Given the description of an element on the screen output the (x, y) to click on. 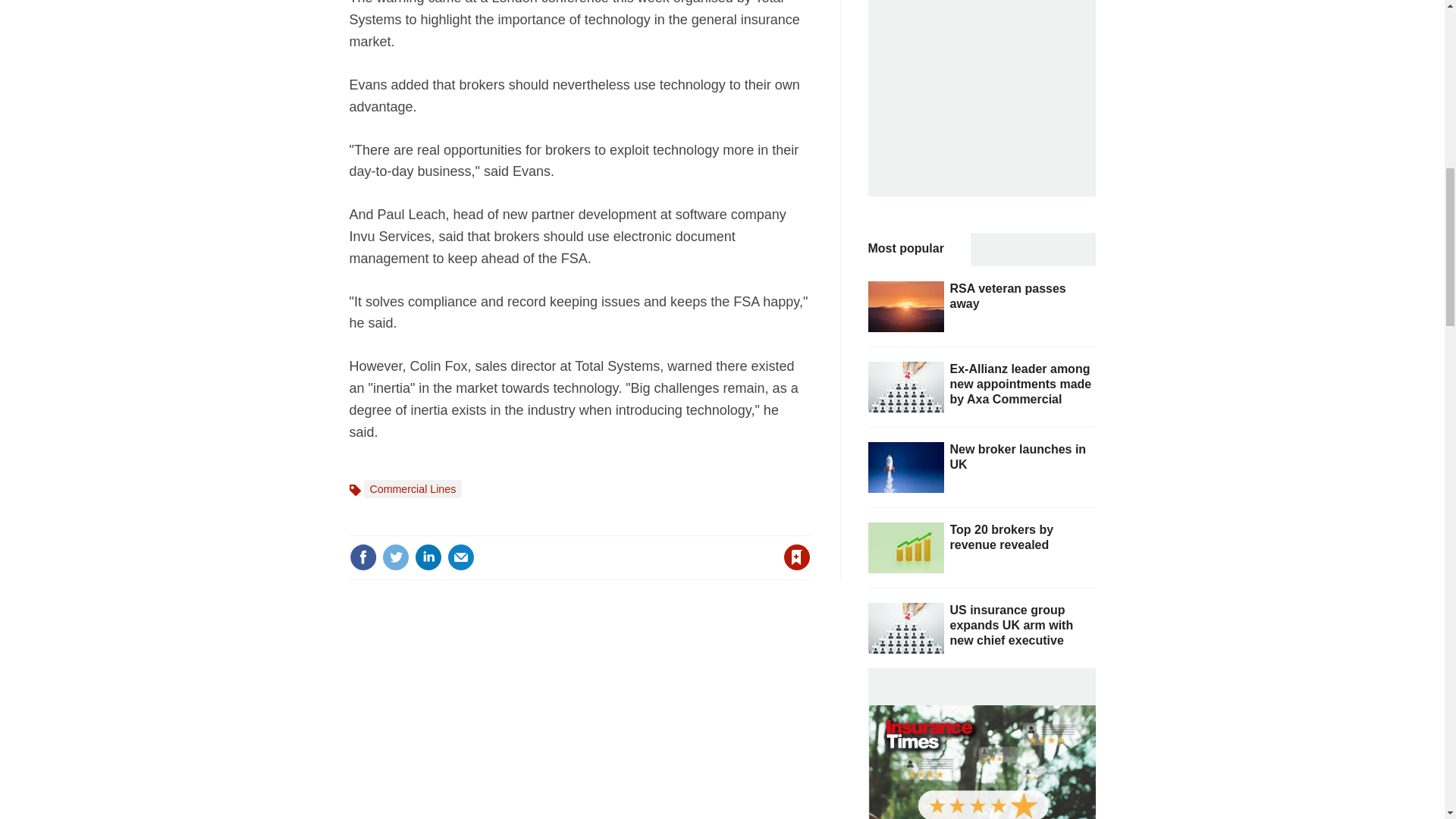
Share this on Linked in (427, 556)
Share this on Facebook (362, 556)
Share this on Twitter (395, 556)
3rd party ad content (980, 98)
Email this article (460, 556)
